Given the description of an element on the screen output the (x, y) to click on. 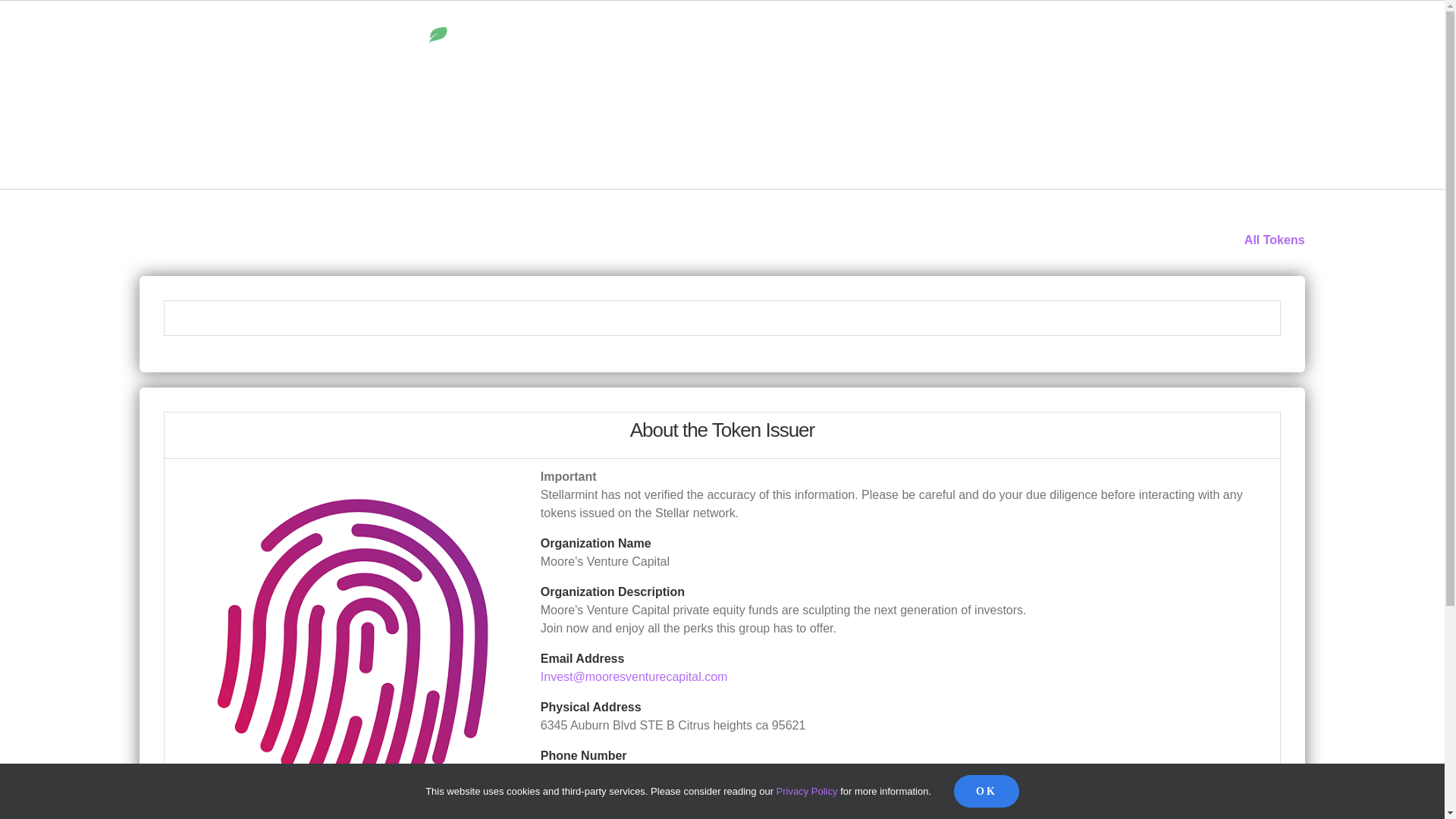
All Tokens (1274, 239)
Privacy Policy (807, 790)
209-237-7904 (577, 773)
Open Account (988, 45)
OK (986, 790)
